Given the description of an element on the screen output the (x, y) to click on. 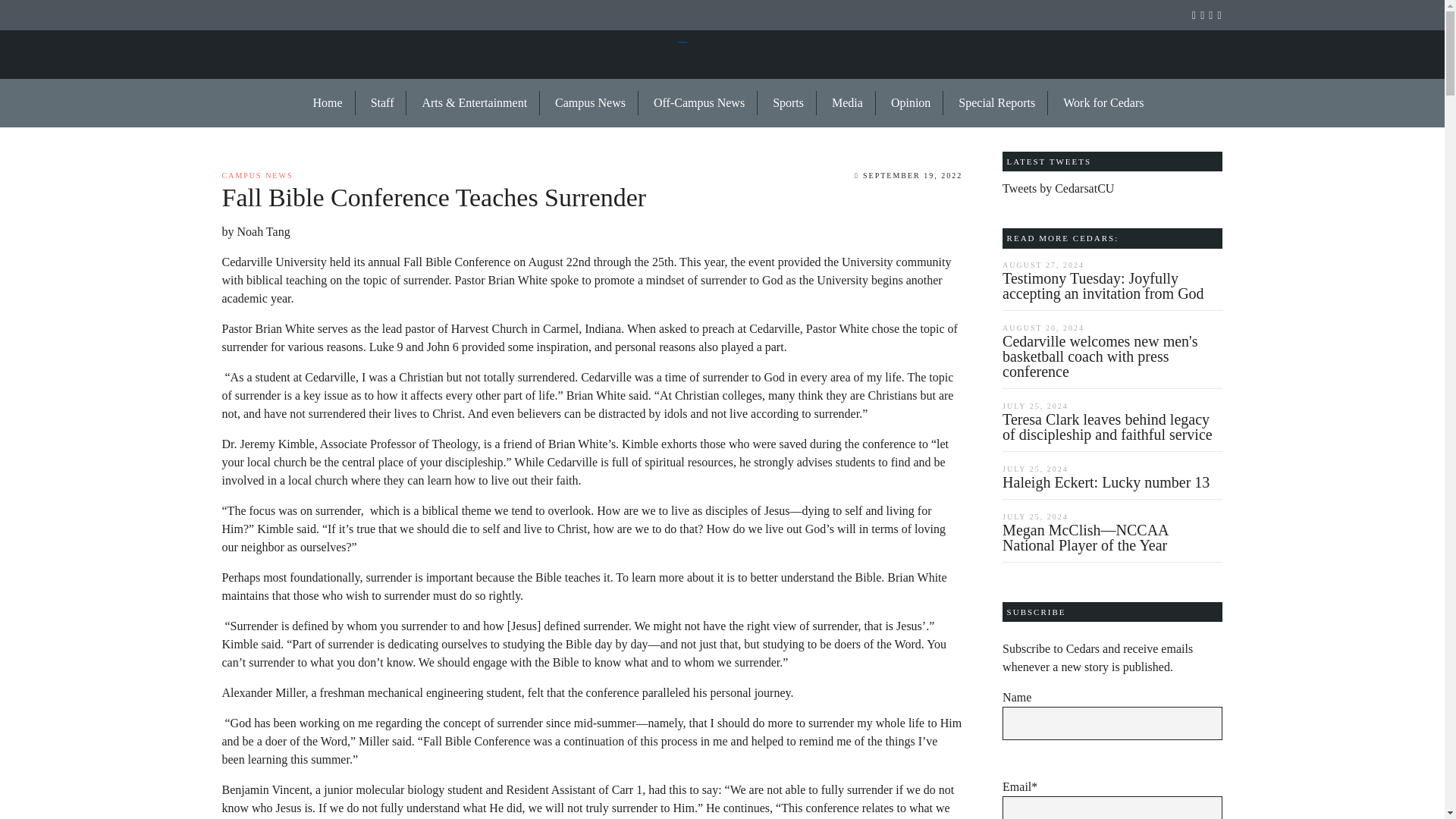
Campus News (591, 102)
Sports (788, 102)
Opinion (911, 102)
Home (328, 102)
Special Reports (997, 102)
Staff (382, 102)
Media (847, 102)
Off-Campus News (699, 102)
Work for Cedars (1096, 102)
